Given the description of an element on the screen output the (x, y) to click on. 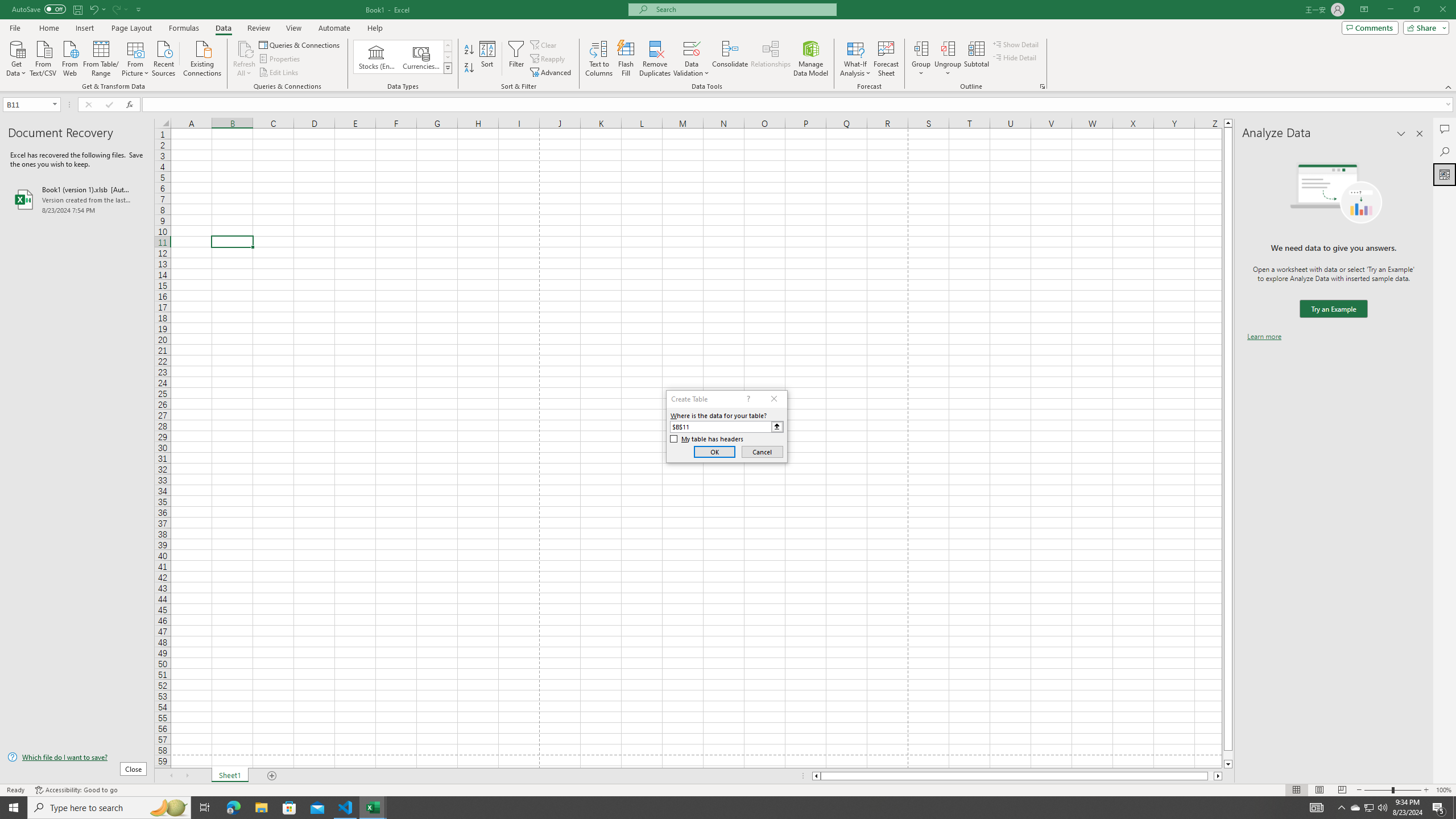
Search (1444, 151)
Stocks (English) (375, 56)
Filter (515, 58)
Task Pane Options (1400, 133)
Learn more (1264, 336)
From Web (69, 57)
Remove Duplicates (654, 58)
Forecast Sheet (885, 58)
